Given the description of an element on the screen output the (x, y) to click on. 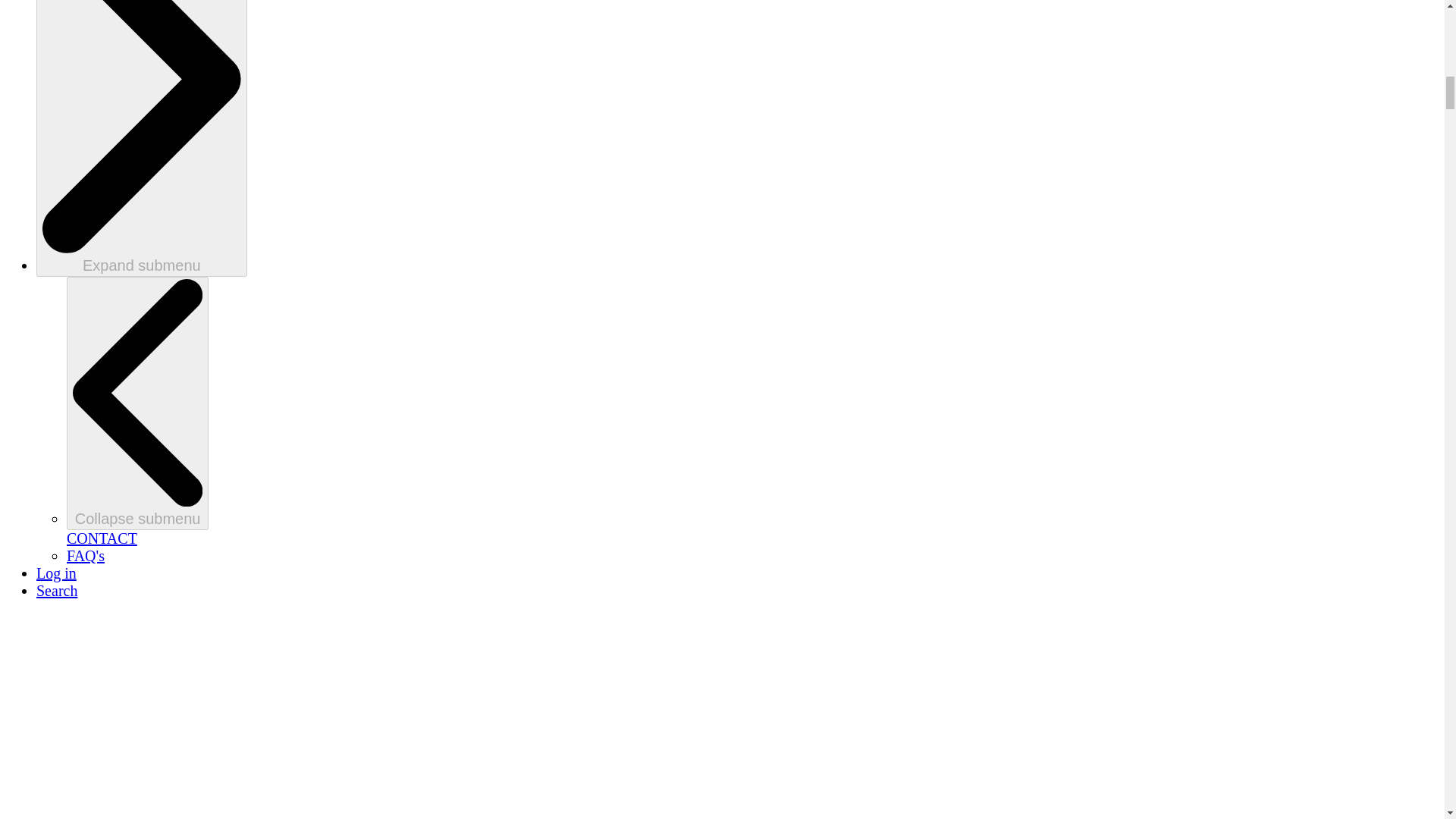
FAQ's (85, 555)
Log in (56, 573)
CONTACT (101, 538)
Search (56, 590)
